Given the description of an element on the screen output the (x, y) to click on. 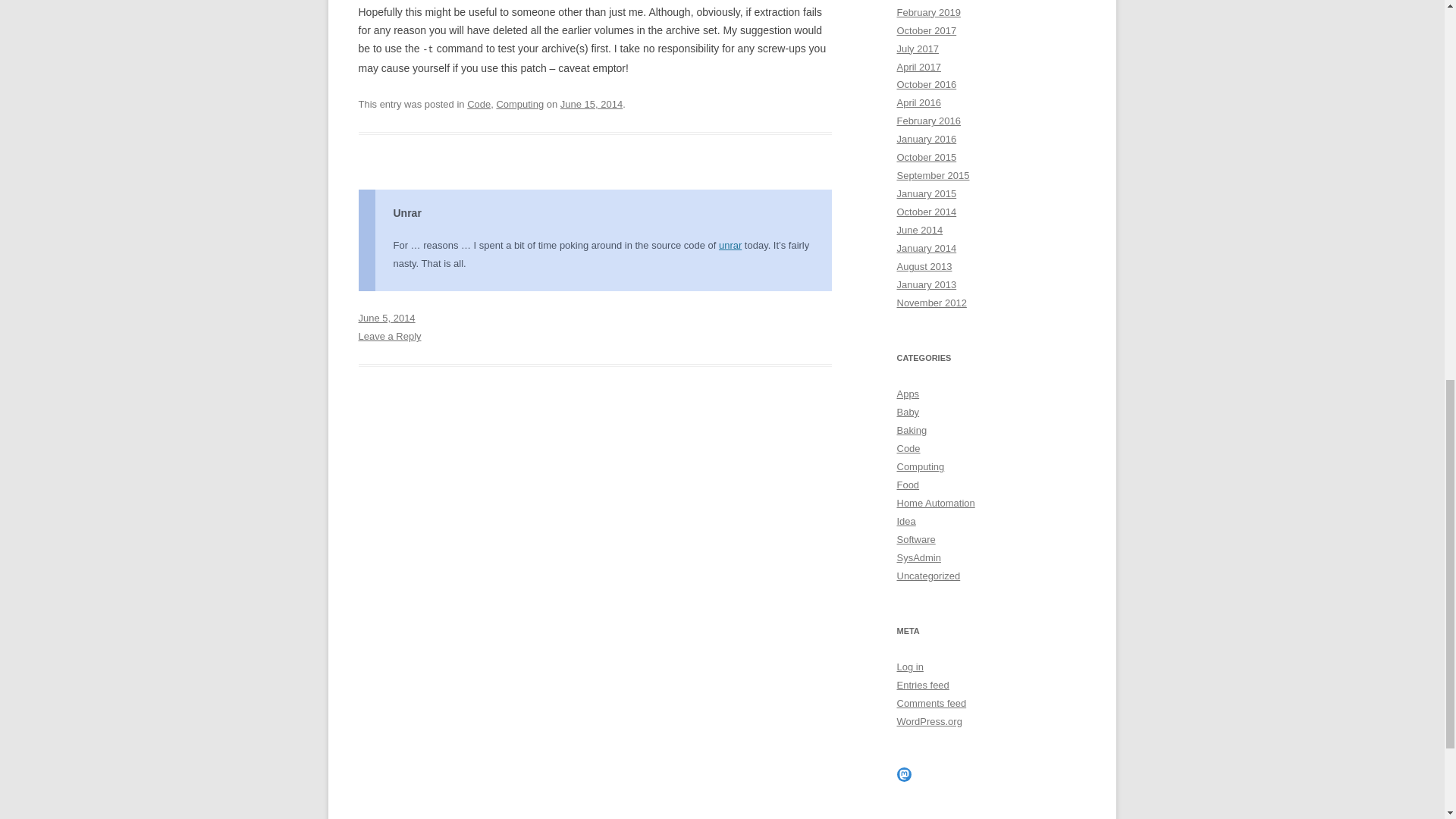
22:19 (591, 103)
July 2017 (917, 48)
unrar (730, 244)
October 2016 (926, 84)
June 15, 2014 (591, 103)
Permalink to Unrar (386, 317)
October 2015 (926, 156)
October 2017 (926, 30)
Leave a Reply (389, 336)
February 2016 (927, 120)
Unrar (406, 213)
Computing (519, 103)
February 2019 (927, 12)
January 2016 (926, 138)
April 2016 (918, 102)
